Given the description of an element on the screen output the (x, y) to click on. 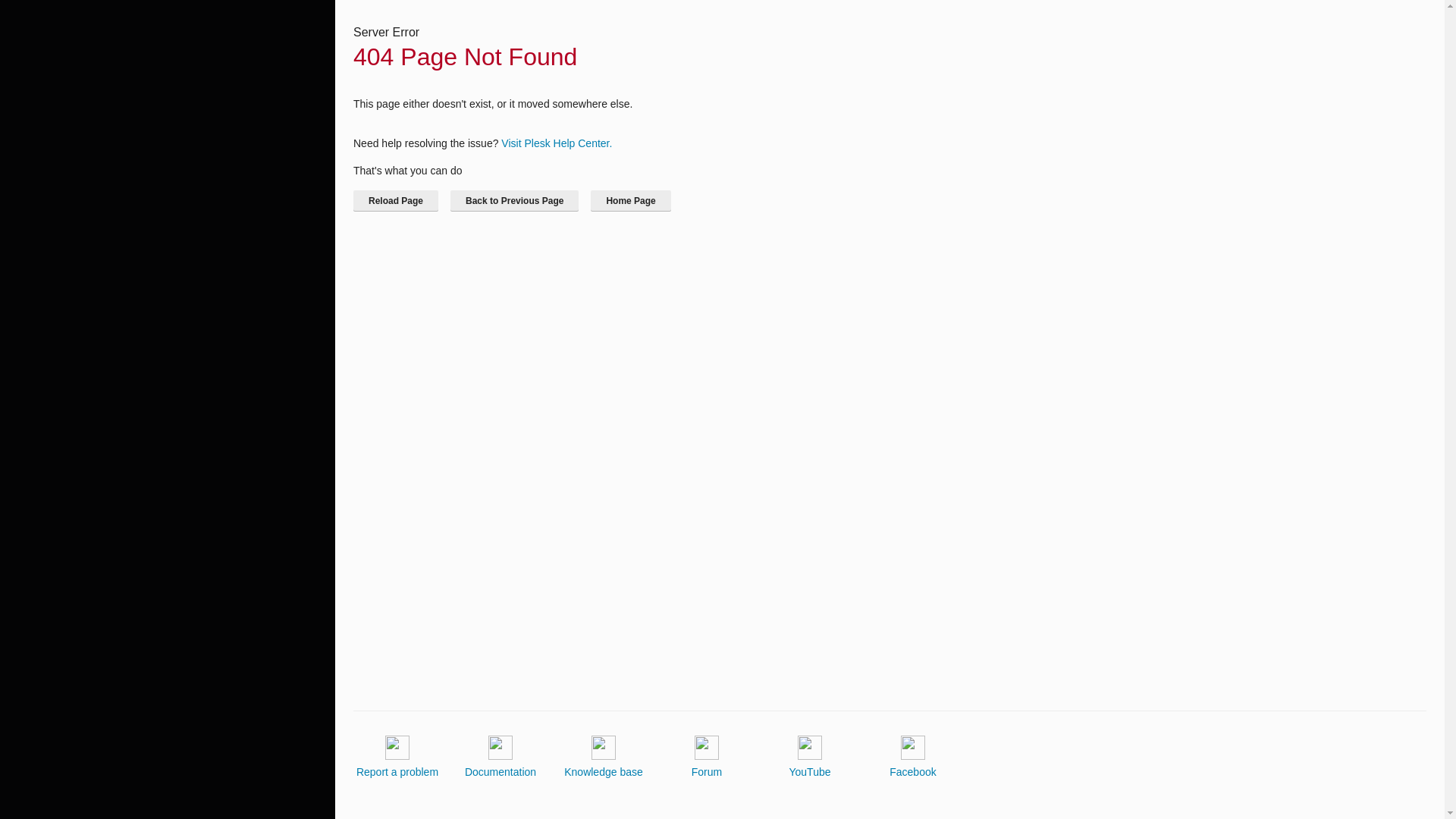
Facebook (912, 757)
Forum (706, 757)
Back to Previous Page (513, 200)
Visit Plesk Help Center. (555, 143)
Documentation (500, 757)
Reload Page (395, 200)
Report a problem (397, 757)
YouTube (809, 757)
Knowledge base (603, 757)
Home Page (630, 200)
